Given the description of an element on the screen output the (x, y) to click on. 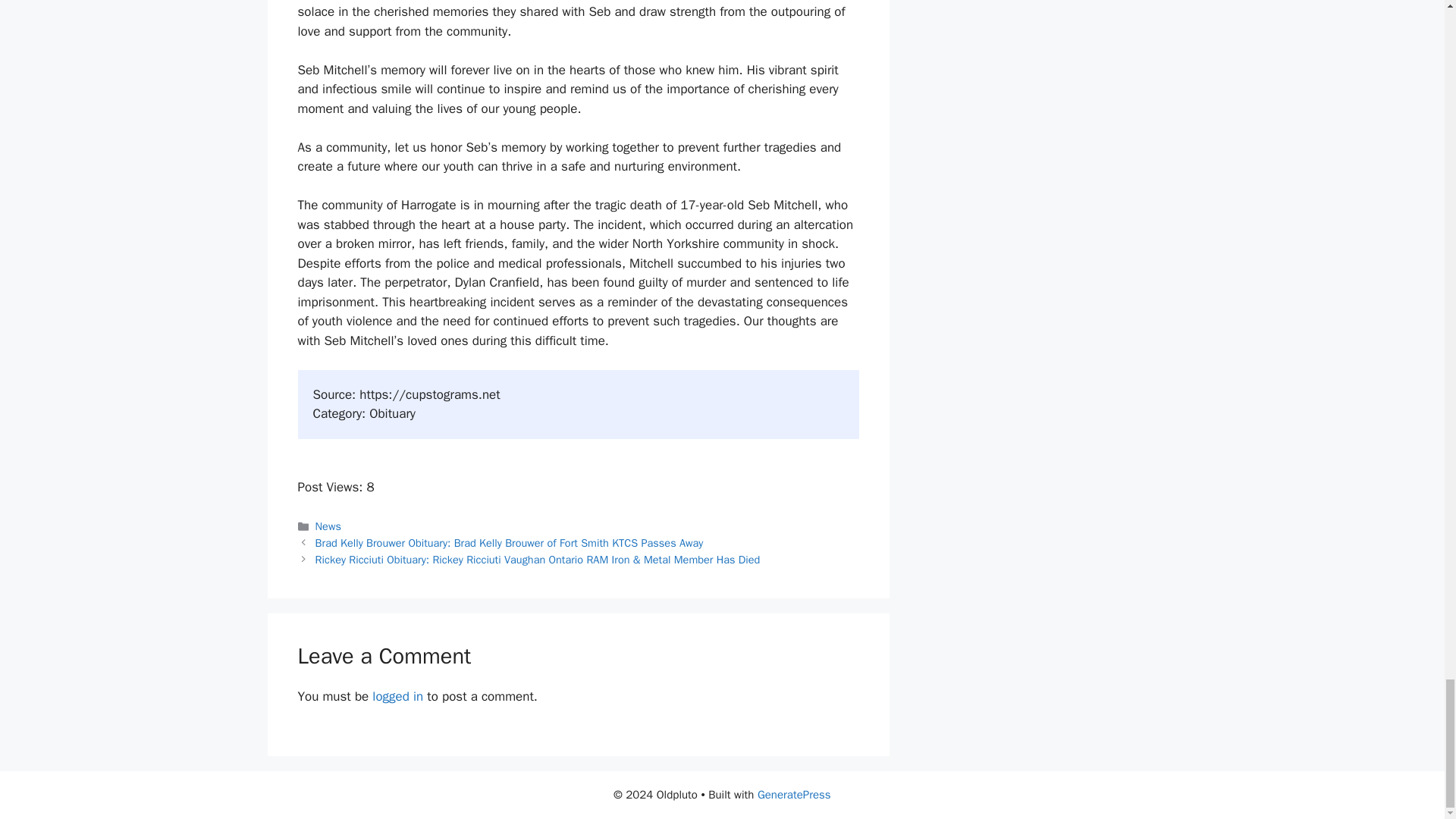
GeneratePress (794, 794)
logged in (397, 696)
News (327, 526)
